Given the description of an element on the screen output the (x, y) to click on. 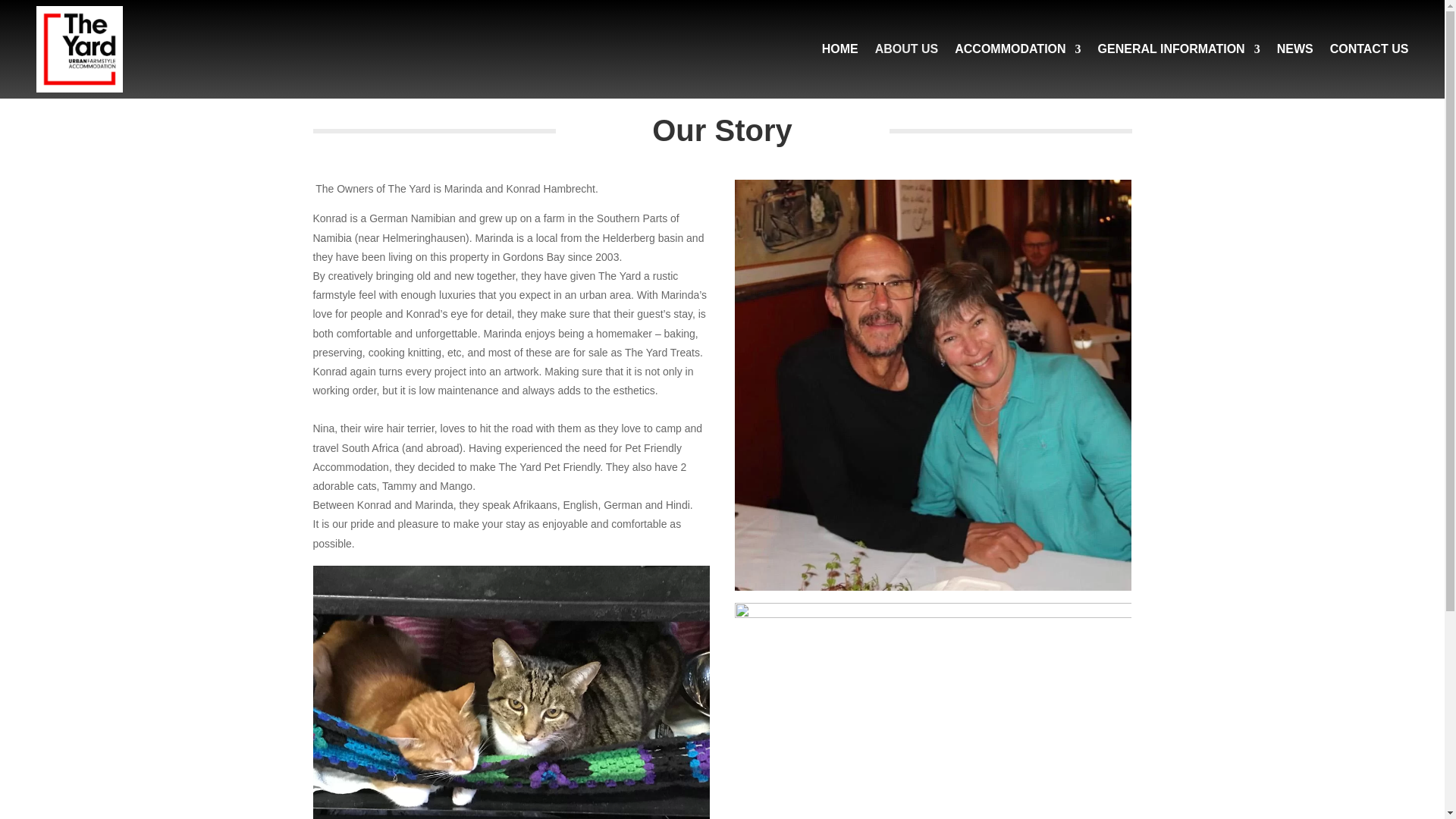
GENERAL INFORMATION (1178, 48)
CONTACT US (1369, 48)
ACCOMMODATION (1017, 48)
